Given the description of an element on the screen output the (x, y) to click on. 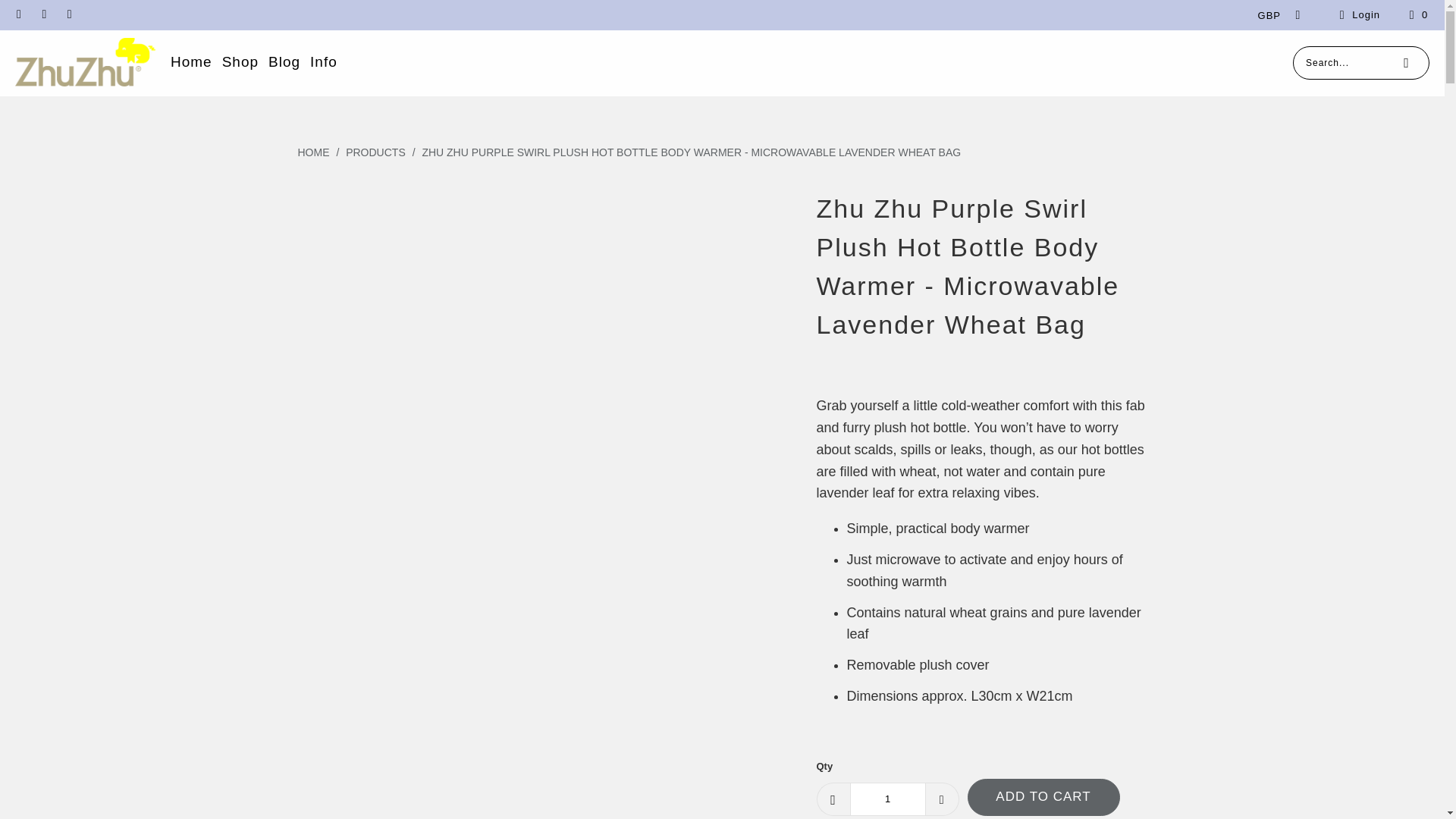
Zhu Zhu (84, 62)
My Account  (1357, 15)
Zhu Zhu (314, 152)
1 (886, 798)
Email Zhu Zhu (17, 14)
Zhu Zhu on Twitter (68, 14)
Zhu Zhu on Facebook (42, 14)
Products (376, 152)
